Given the description of an element on the screen output the (x, y) to click on. 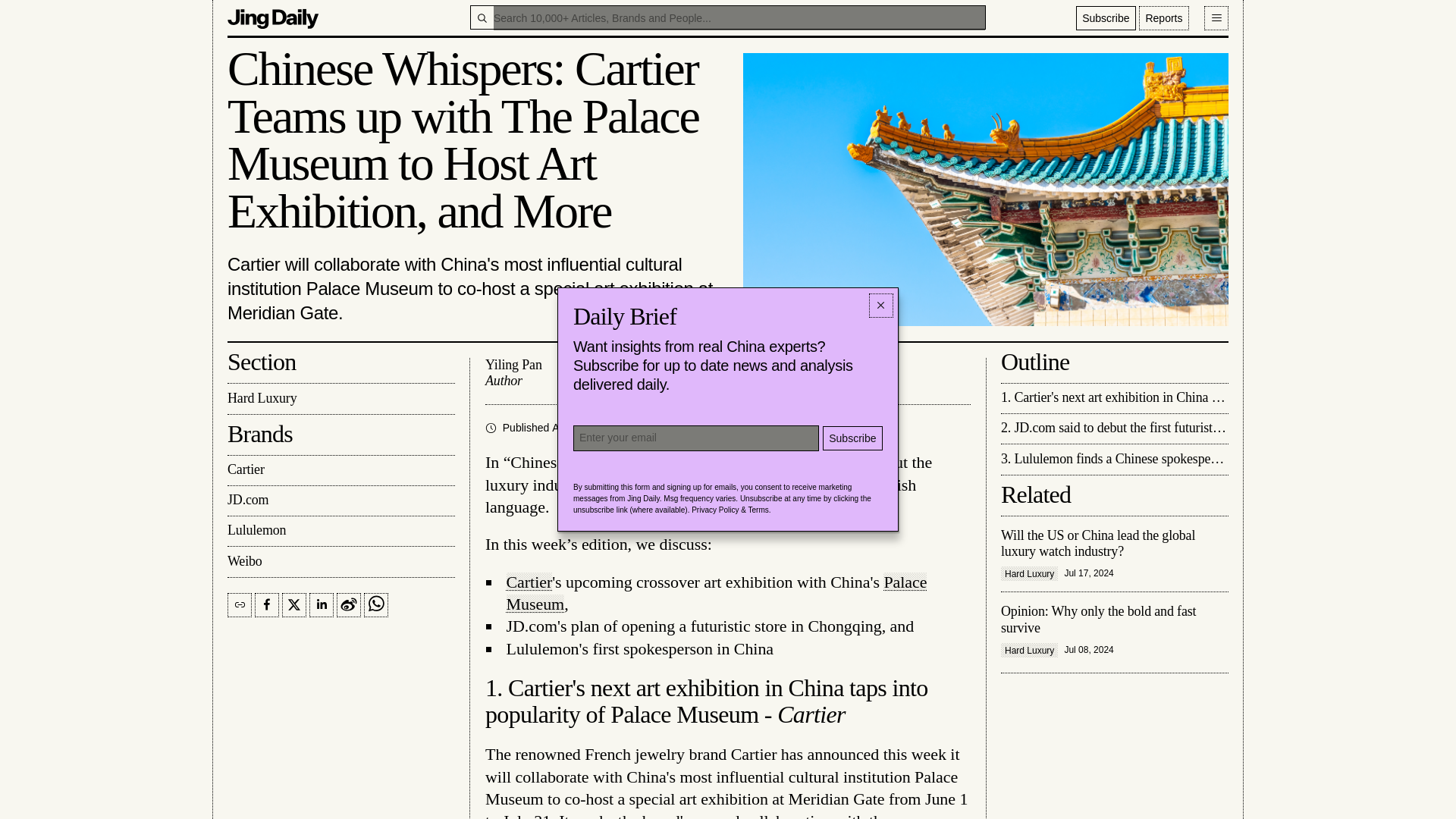
Weibo (340, 562)
Reports (1163, 17)
Palace Museum (716, 592)
JD.com (340, 501)
Reports (1163, 17)
Hard Luxury (340, 399)
Will the US or China lead the global luxury watch industry? (1114, 554)
Cartier (340, 470)
Opinion: Why only the bold and fast survive (1114, 630)
Cartier (529, 581)
